Given the description of an element on the screen output the (x, y) to click on. 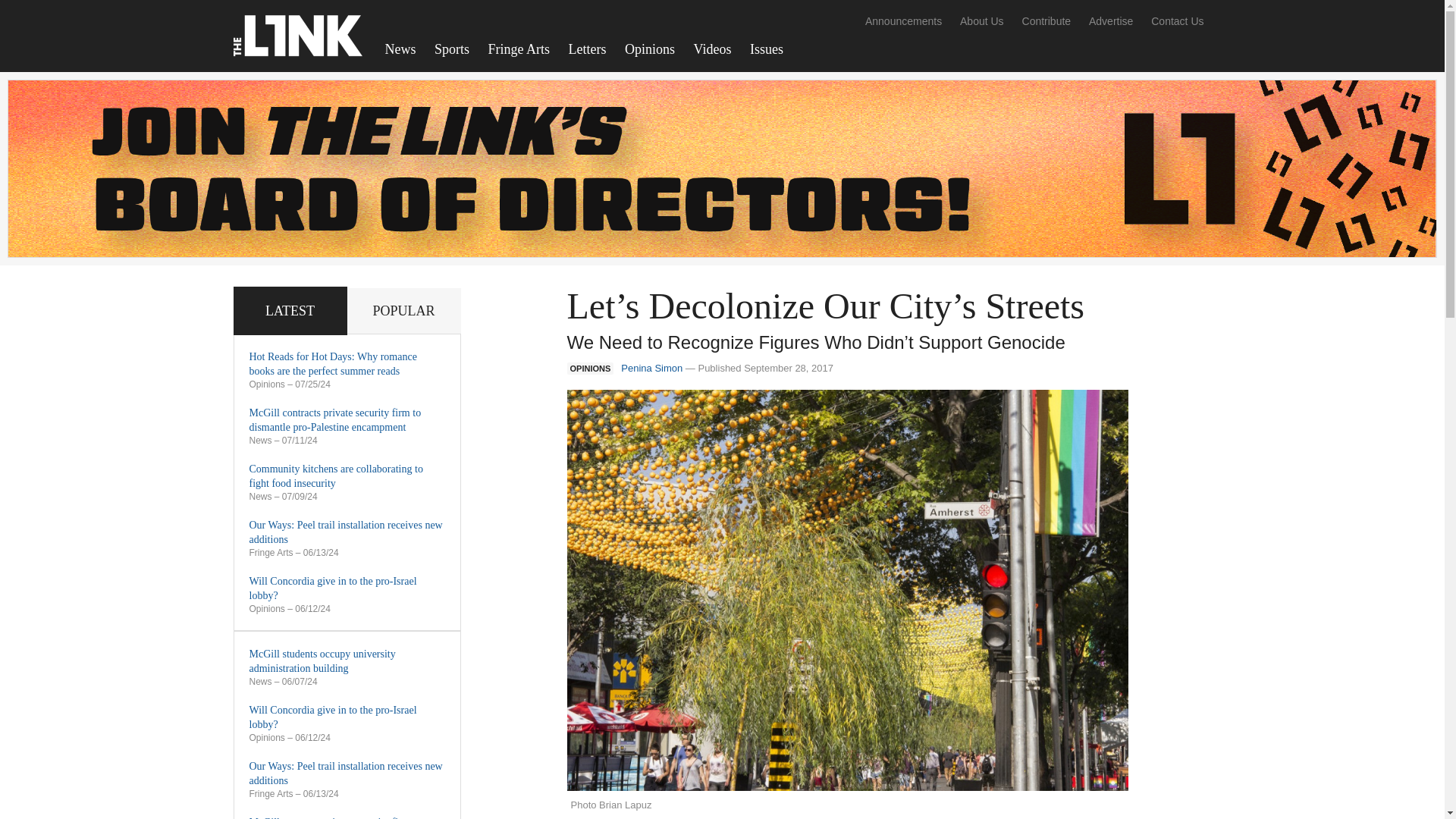
Opinions (649, 49)
Letters (587, 49)
News (400, 49)
Fringe Arts (518, 49)
Sports (451, 49)
Videos (712, 49)
